Given the description of an element on the screen output the (x, y) to click on. 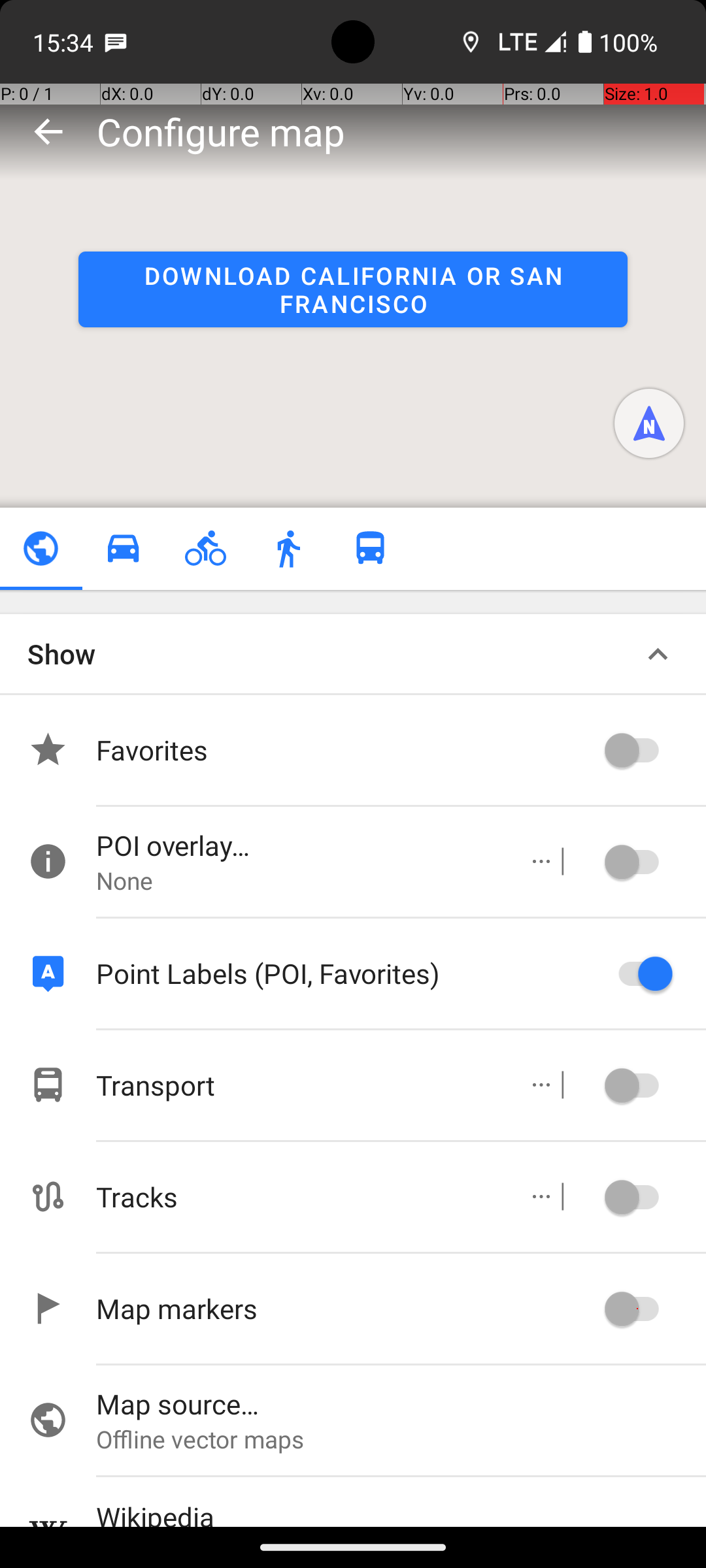
Back to map Element type: android.widget.ImageButton (48, 131)
Movement direction Element type: android.widget.ImageButton (649, 423)
DOWNLOAD CALIFORNIA OR SAN FRANCISCO Element type: android.widget.Button (352, 289)
Browse map checked Element type: android.widget.ImageView (40, 548)
Driving unchecked Element type: android.widget.ImageView (122, 548)
Cycling unchecked Element type: android.widget.ImageView (205, 548)
Show Element type: android.widget.TextView (61, 653)
POI overlay… Element type: android.widget.TextView (298, 844)
Point Labels (POI, Favorites) Element type: android.widget.TextView (346, 972)
Transport Element type: android.widget.TextView (298, 1084)
Map markers Element type: android.widget.TextView (346, 1307)
Map source… Element type: android.widget.TextView (401, 1403)
Offline vector maps Element type: android.widget.TextView (401, 1438)
